Given the description of an element on the screen output the (x, y) to click on. 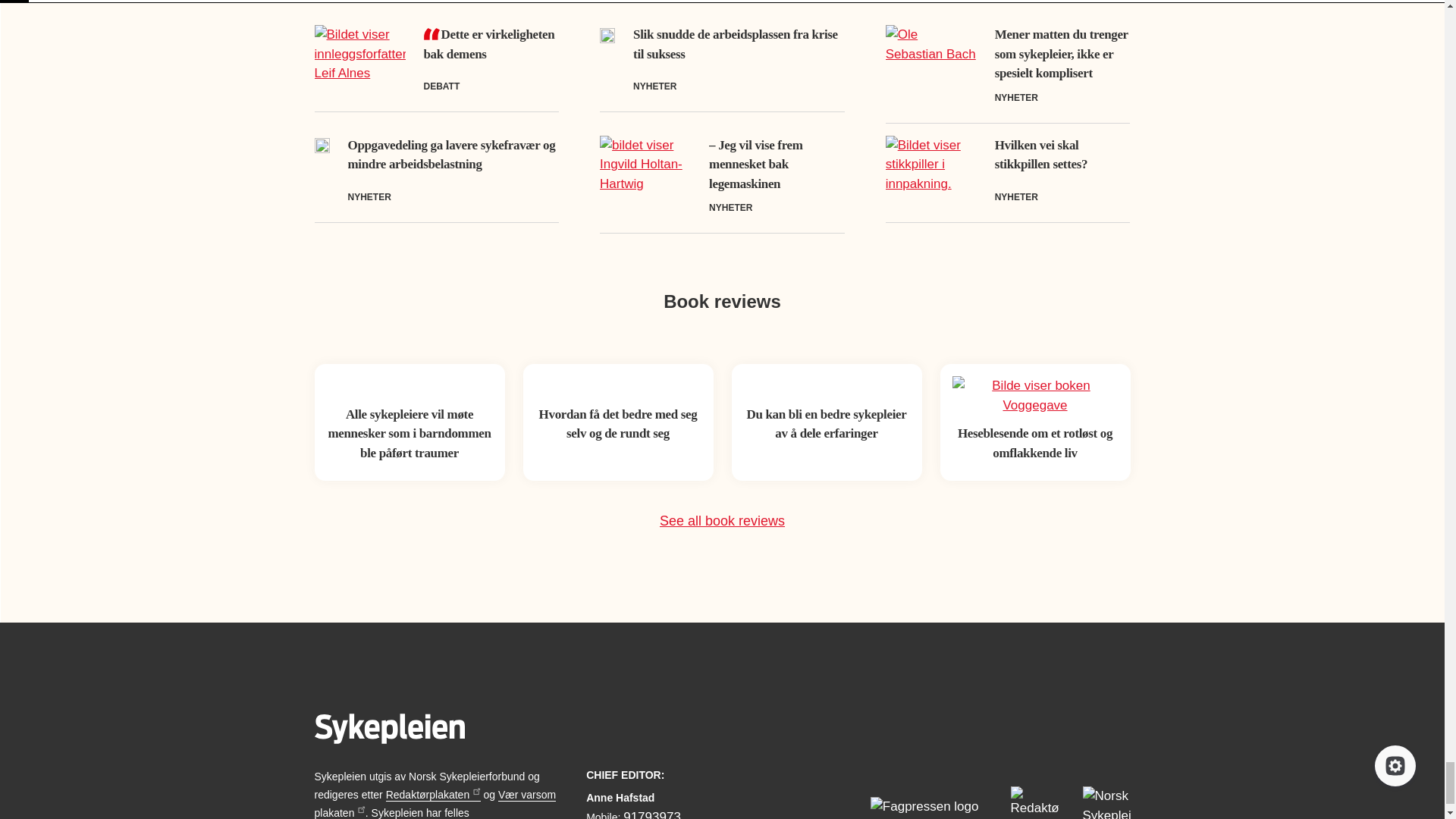
Hvilken vei skal stikkpillen settes? (1040, 154)
Fagpressen (928, 807)
Slik snudde de arbeidsplassen fra krise til suksess (735, 44)
Dette er virkeligheten bak demens (488, 44)
Boken Voggegave (1035, 394)
Norsk Sykepleierforbund (1107, 802)
